Given the description of an element on the screen output the (x, y) to click on. 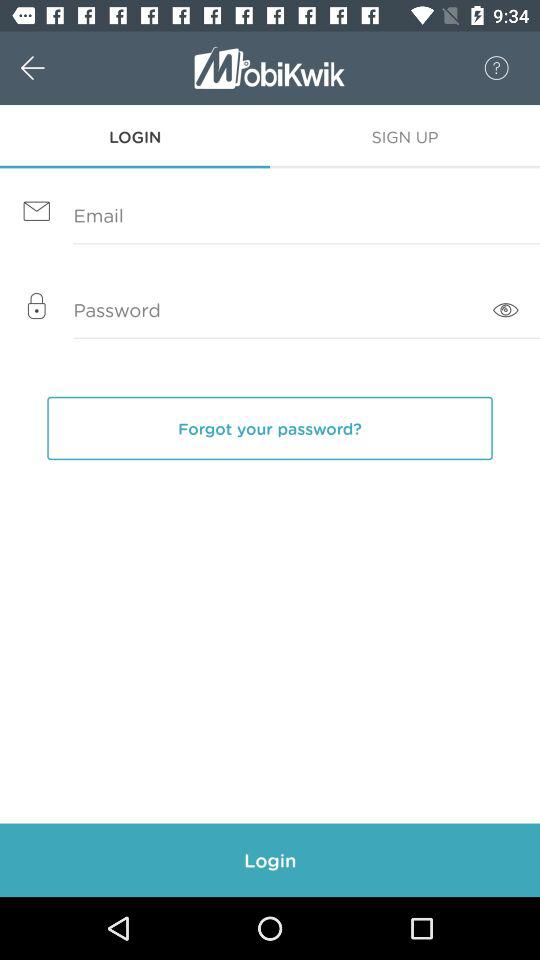
enter password (270, 311)
